Given the description of an element on the screen output the (x, y) to click on. 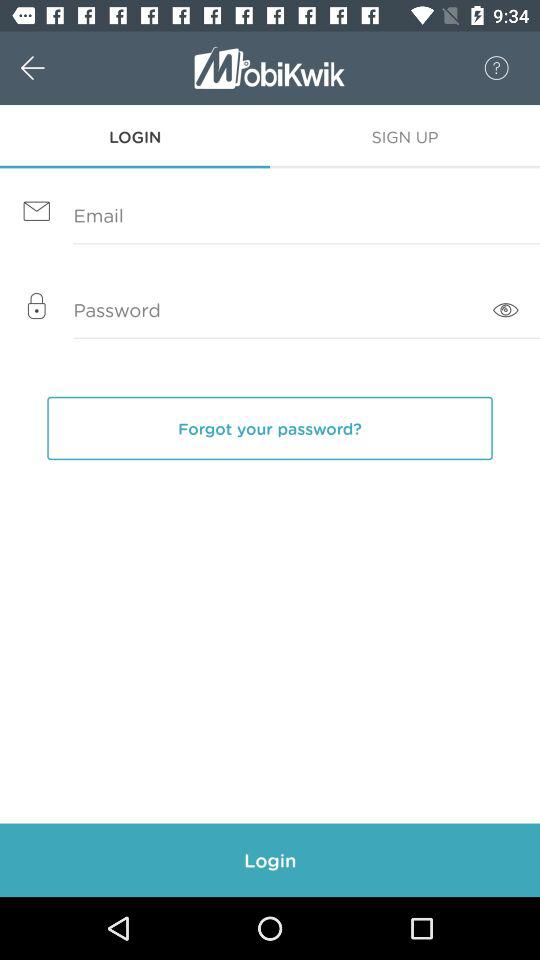
enter password (270, 311)
